Given the description of an element on the screen output the (x, y) to click on. 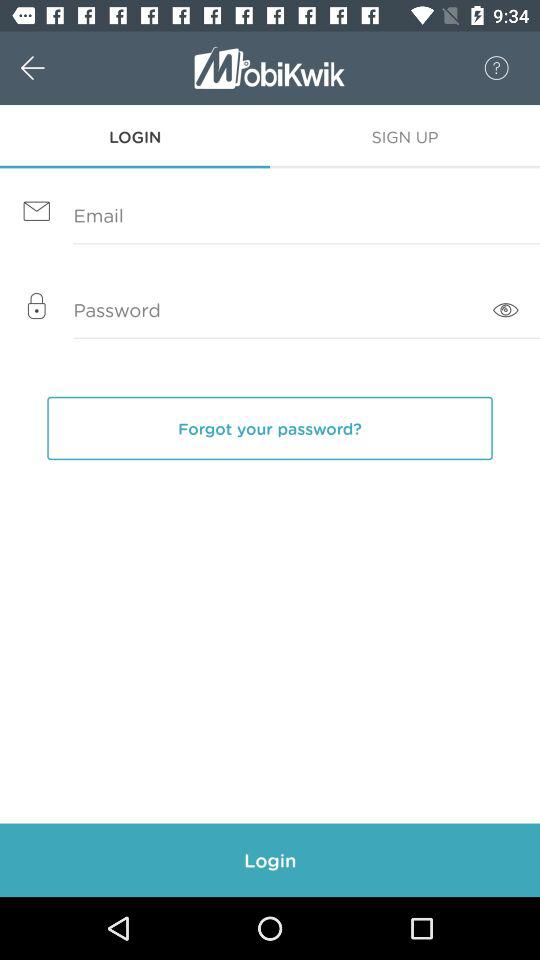
enter password (270, 311)
